Given the description of an element on the screen output the (x, y) to click on. 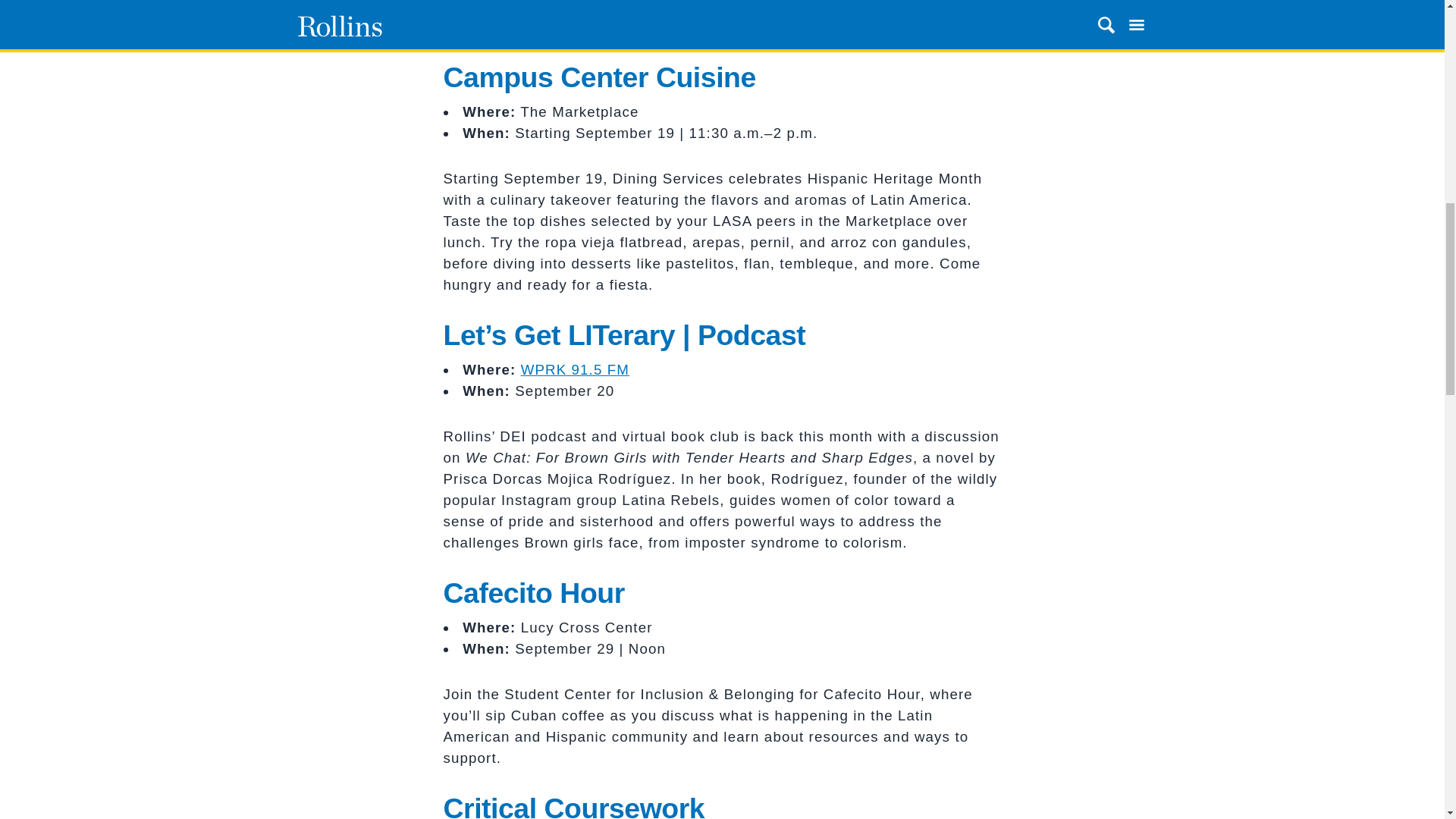
WPRK 91.5 FM (574, 369)
